Given the description of an element on the screen output the (x, y) to click on. 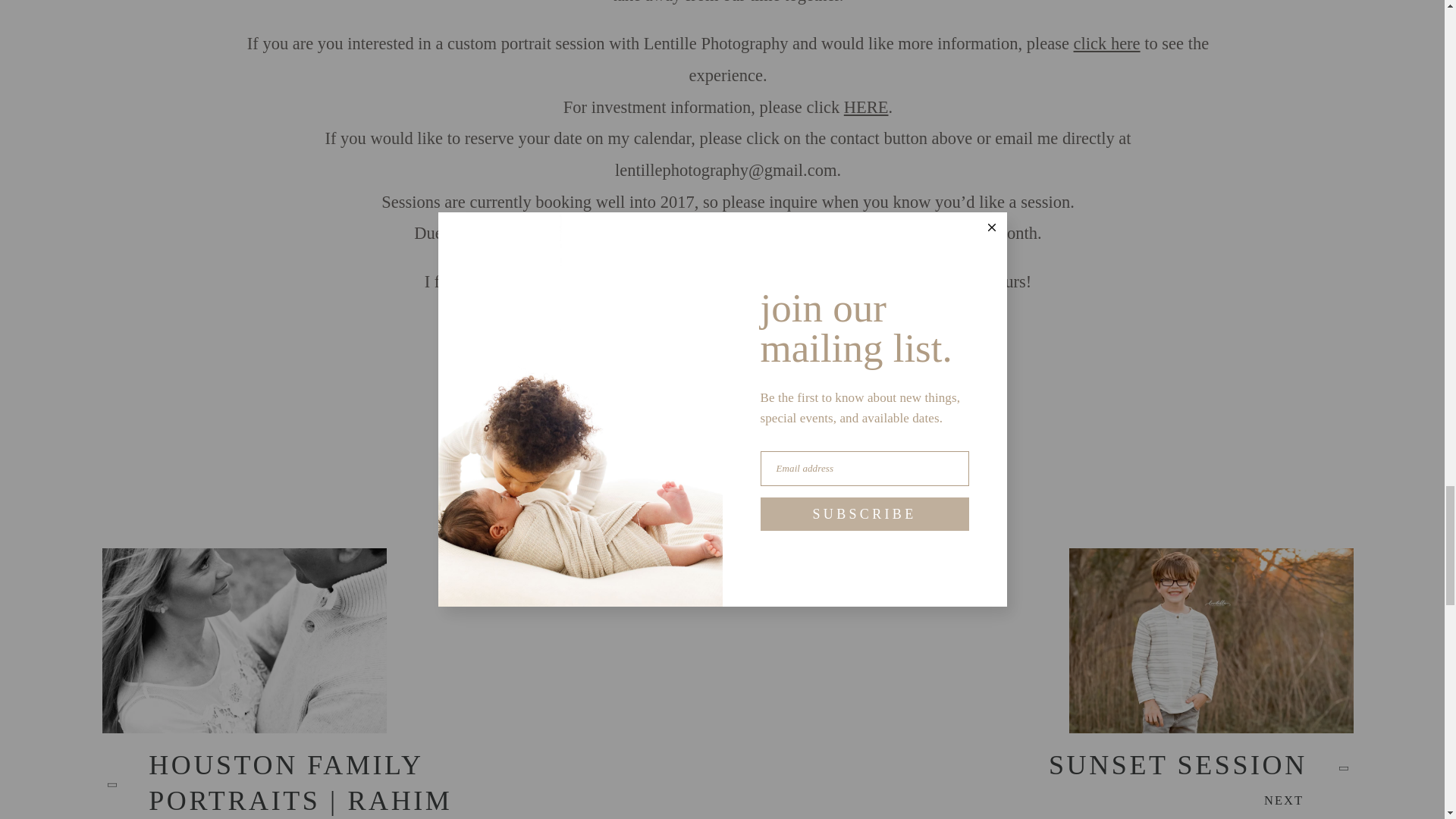
click here (1107, 43)
HERE (866, 107)
FOLLOW ME ON INSTAGRAM (850, 330)
NEXT (1308, 800)
SUNSET SESSION (1201, 767)
FOLLOW ME ON FACEBOOK (600, 330)
